Given the description of an element on the screen output the (x, y) to click on. 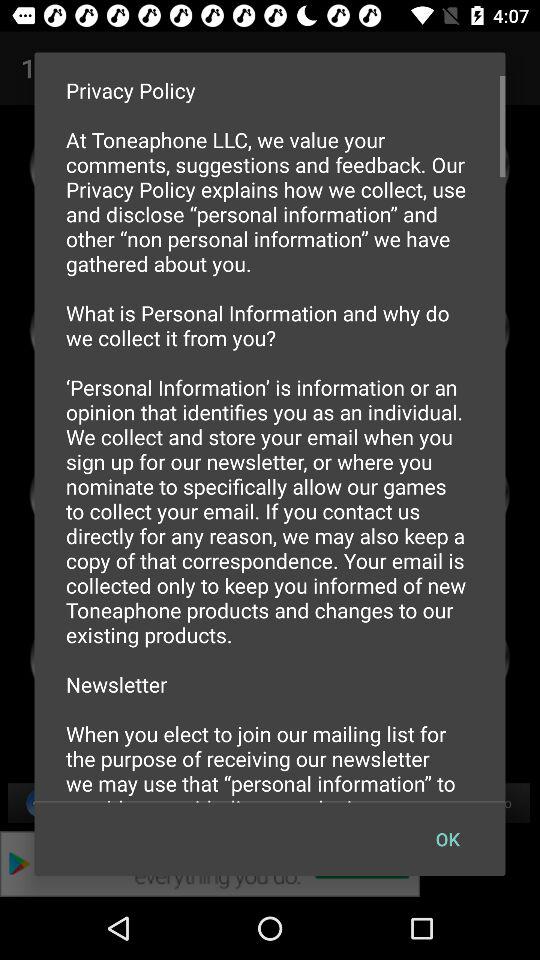
flip until ok (447, 838)
